Given the description of an element on the screen output the (x, y) to click on. 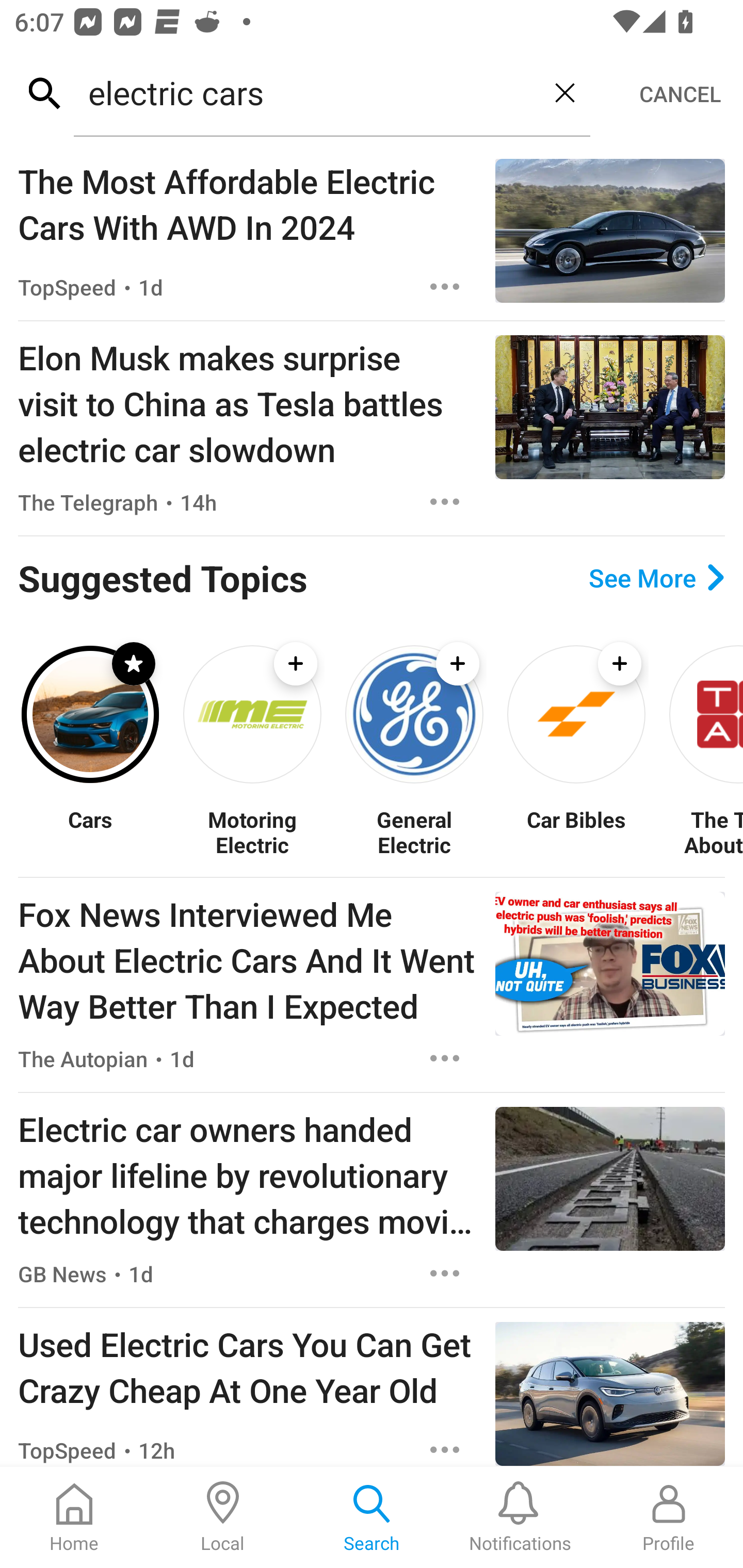
Clear query (564, 92)
CANCEL (680, 93)
electric cars (306, 92)
Options (444, 286)
Options (444, 501)
See More (656, 577)
Cars (89, 831)
Motoring Electric (251, 831)
General Electric (413, 831)
Car Bibles (575, 831)
The Truth About Cars (704, 831)
Options (444, 1058)
Options (444, 1273)
Options (444, 1447)
Home (74, 1517)
Local (222, 1517)
Notifications (519, 1517)
Profile (668, 1517)
